Given the description of an element on the screen output the (x, y) to click on. 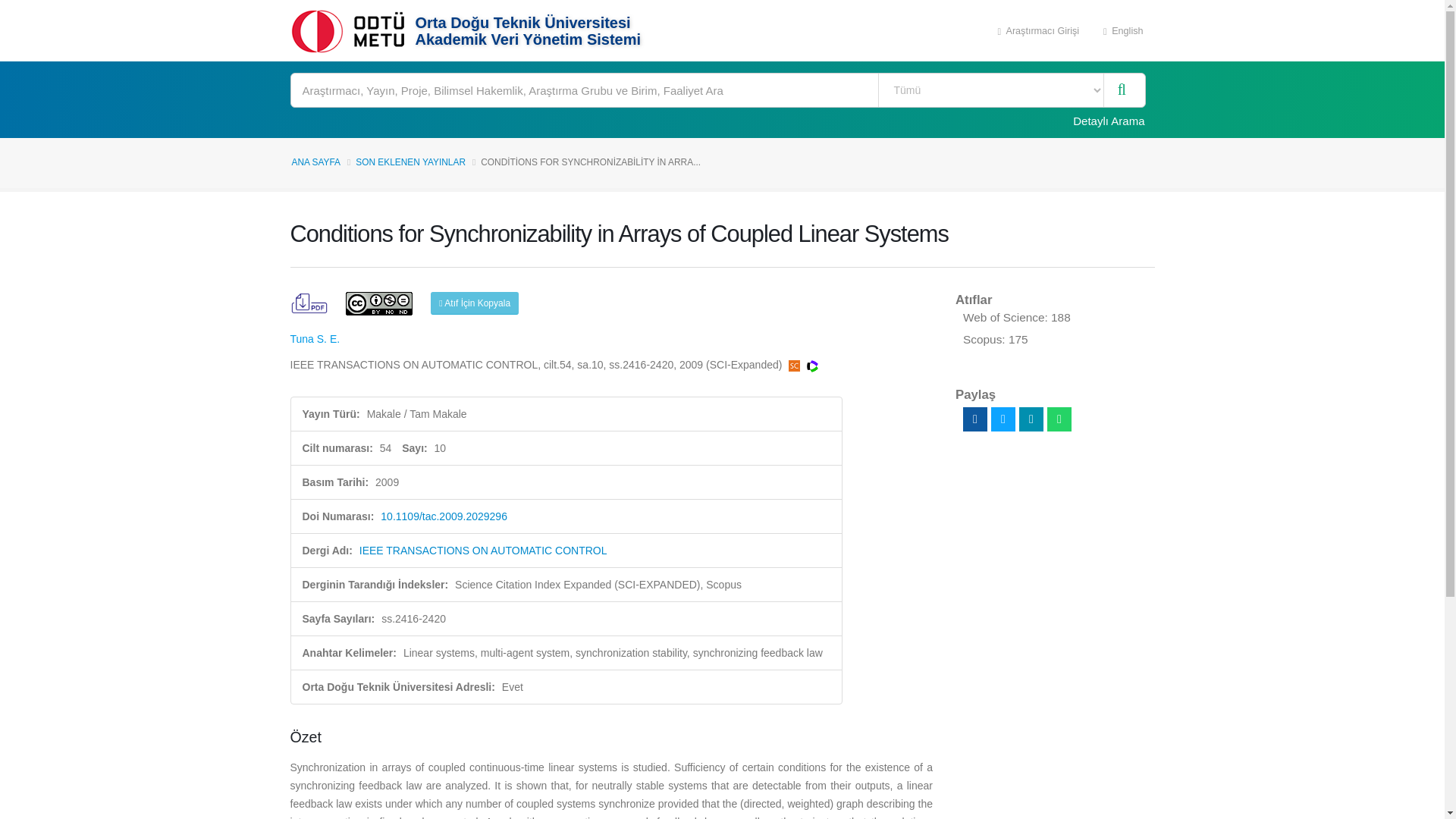
ANA SAYFA (315, 162)
English (1123, 31)
Tuna S. E. (314, 338)
SON EKLENEN YAYINLAR (410, 162)
IEEE TRANSACTIONS ON AUTOMATIC CONTROL (483, 550)
